Given the description of an element on the screen output the (x, y) to click on. 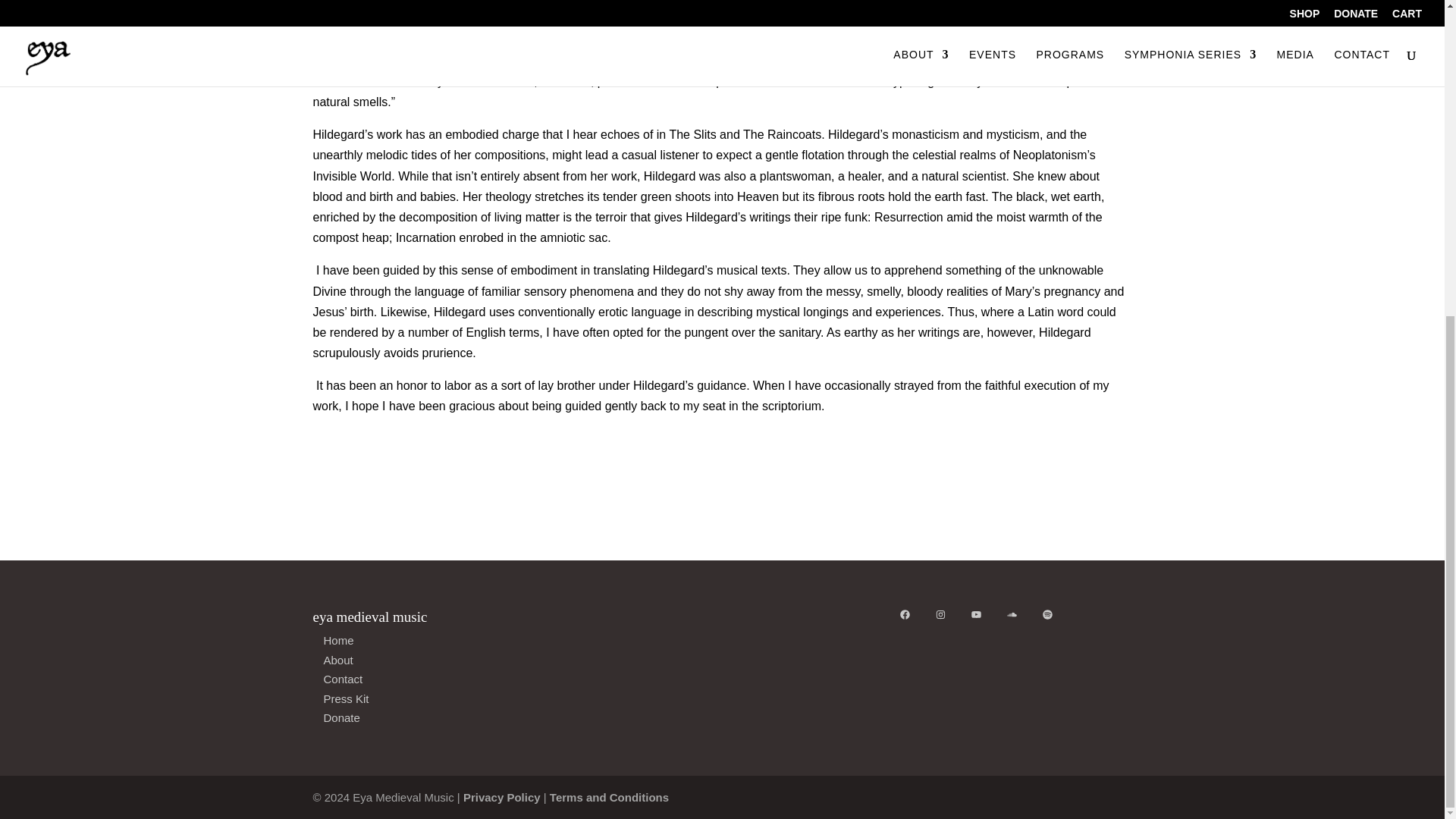
Home (338, 640)
Donate (341, 717)
About (337, 659)
Contact (342, 678)
Instagram (940, 614)
Press Kit (345, 698)
Facebook (905, 614)
